Given the description of an element on the screen output the (x, y) to click on. 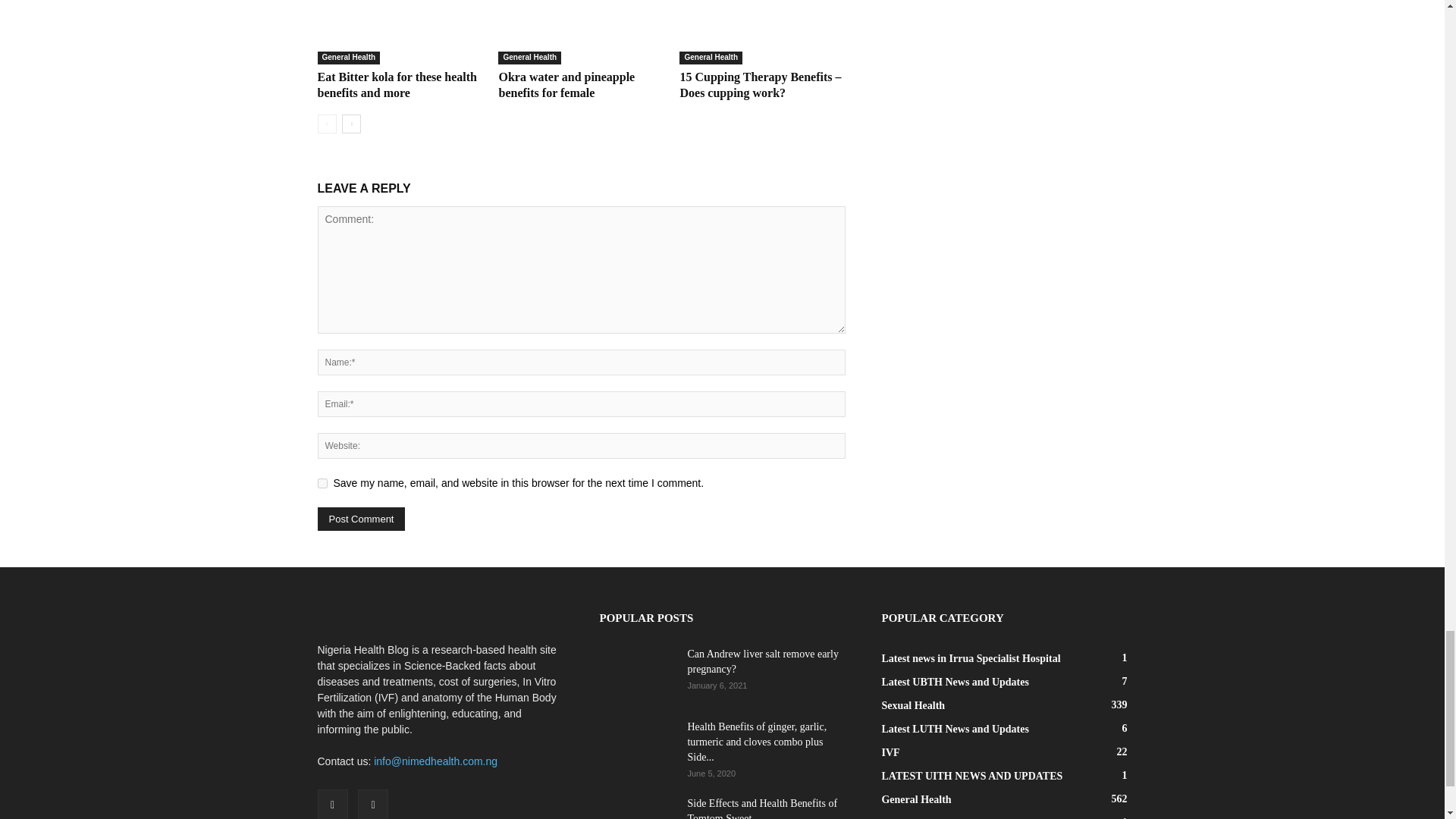
yes (321, 483)
Post Comment (360, 518)
